Given the description of an element on the screen output the (x, y) to click on. 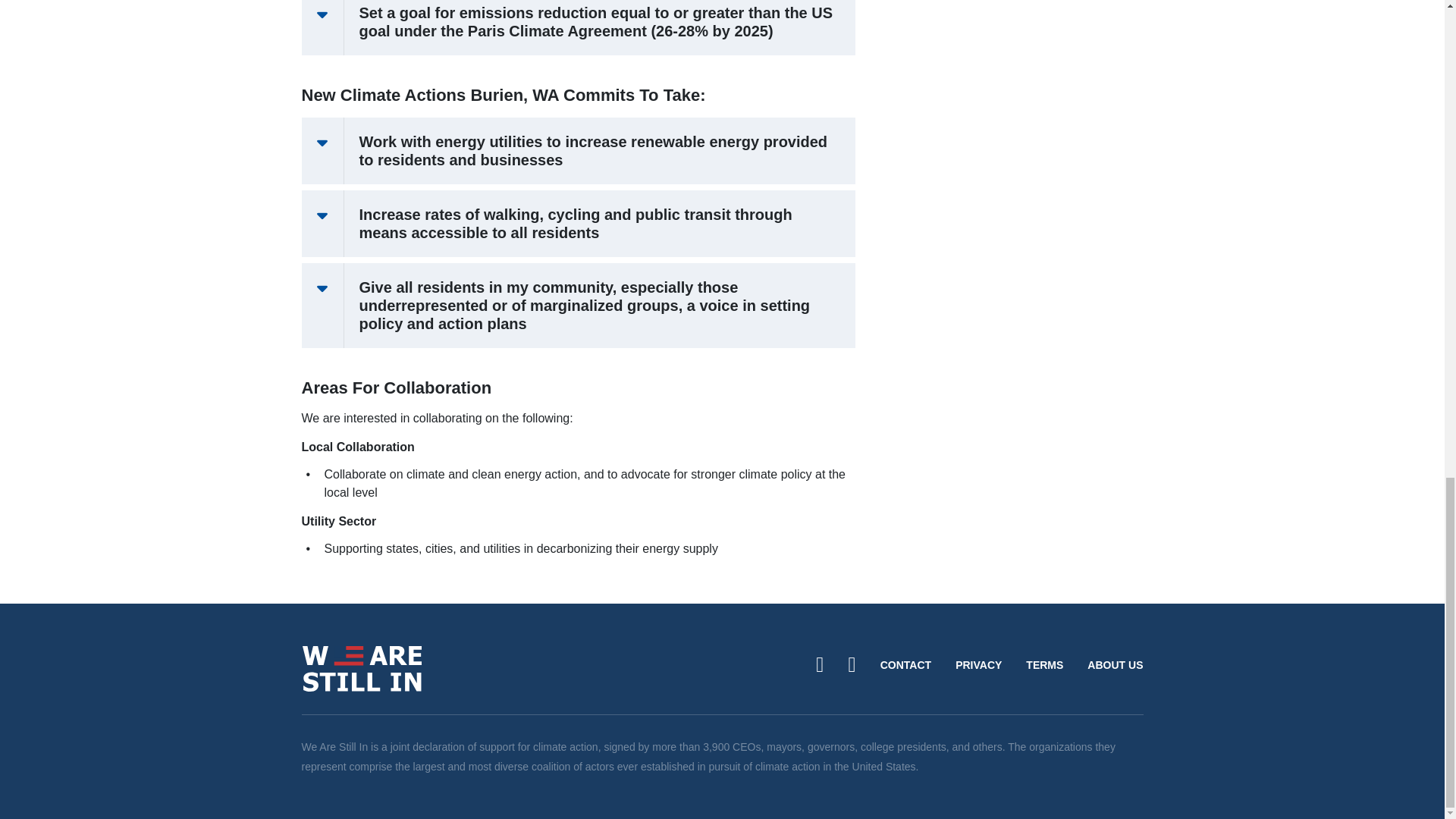
TERMS (1044, 665)
CONTACT (905, 665)
PRIVACY (978, 665)
ABOUT US (1108, 665)
Home (362, 667)
